Given the description of an element on the screen output the (x, y) to click on. 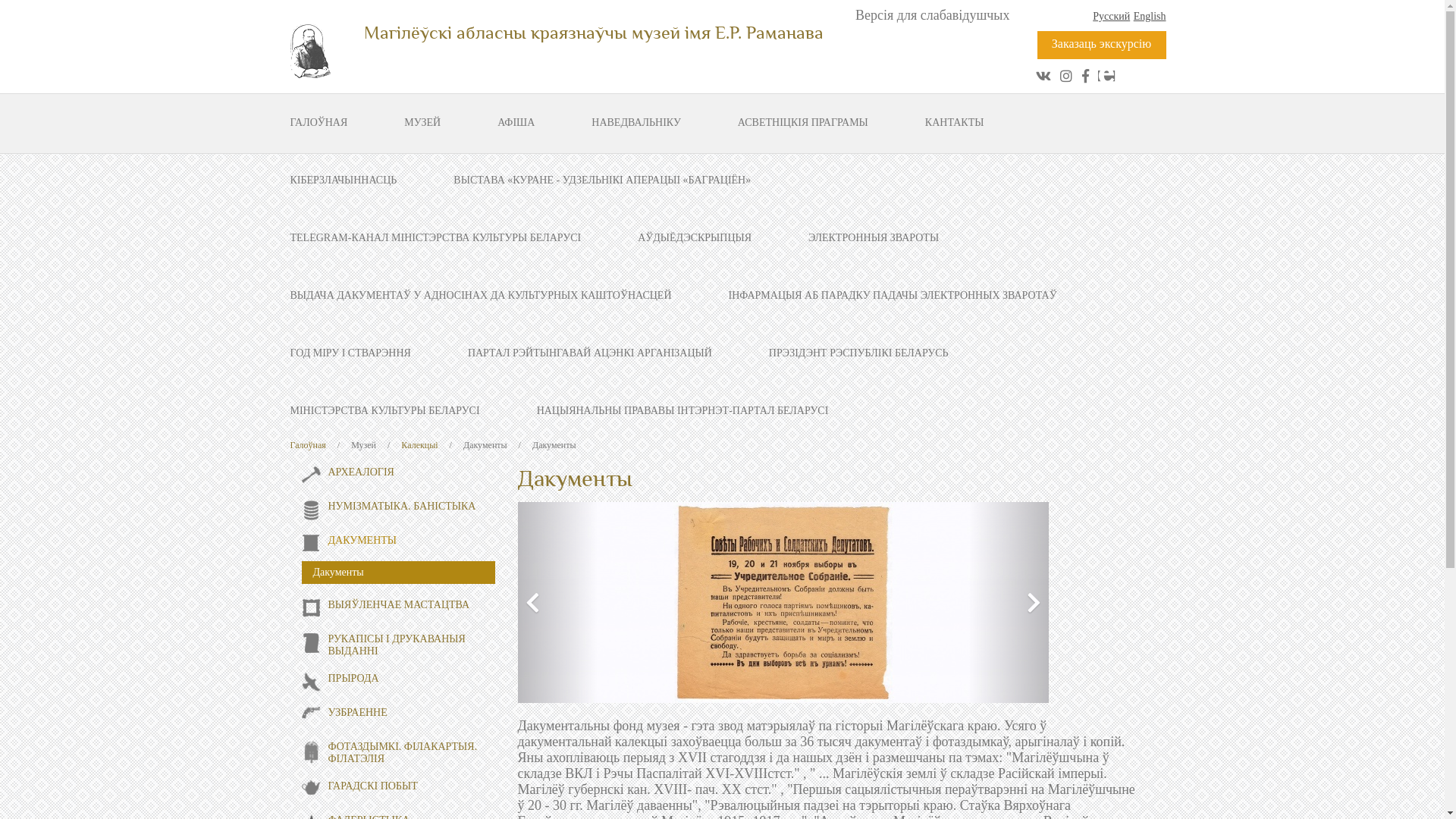
English Element type: text (1149, 15)
